Given the description of an element on the screen output the (x, y) to click on. 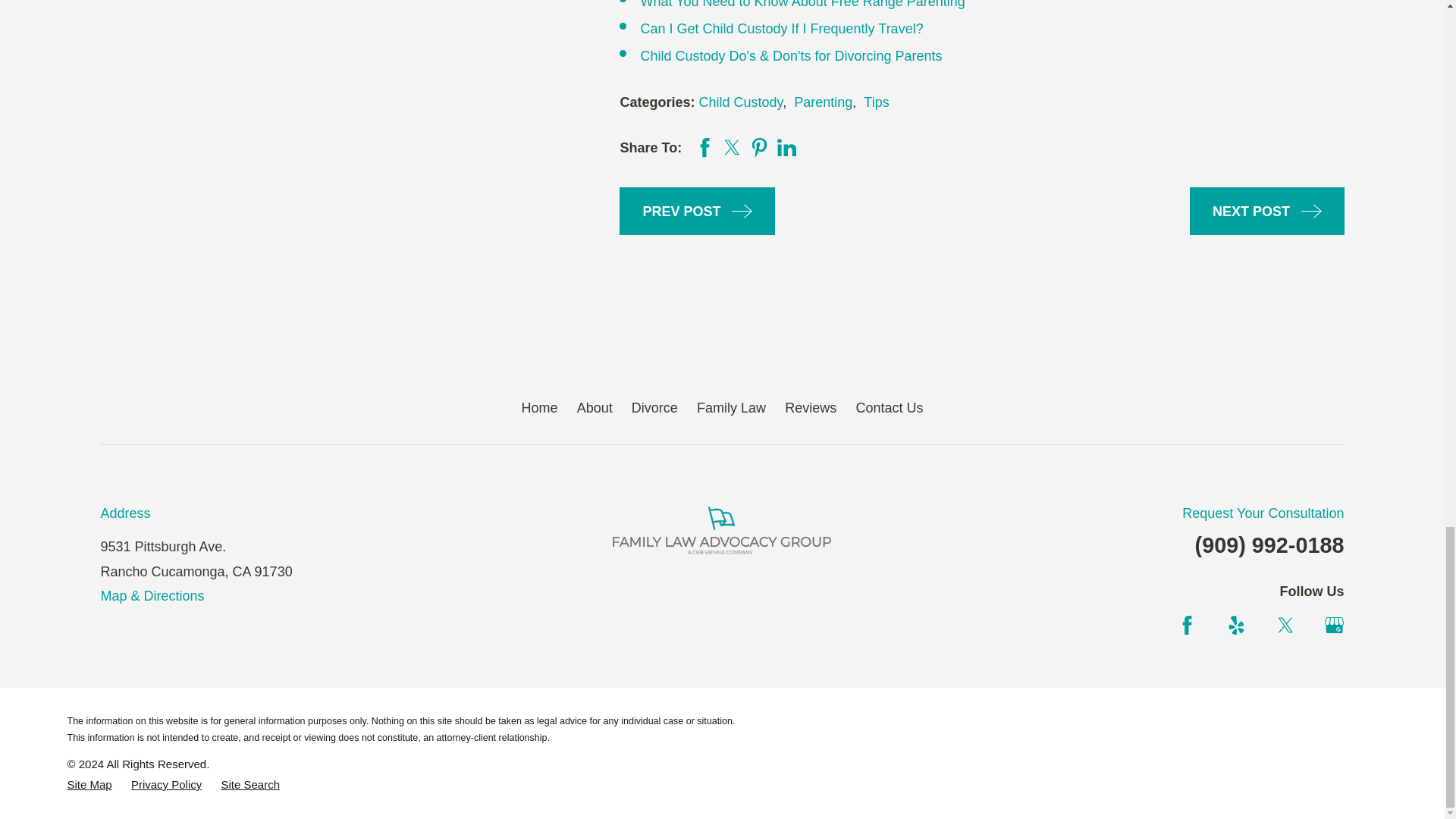
Twitter (1285, 624)
Facebook (1186, 624)
Google Business Profile (1333, 624)
Home (721, 529)
Yelp (1236, 624)
